Given the description of an element on the screen output the (x, y) to click on. 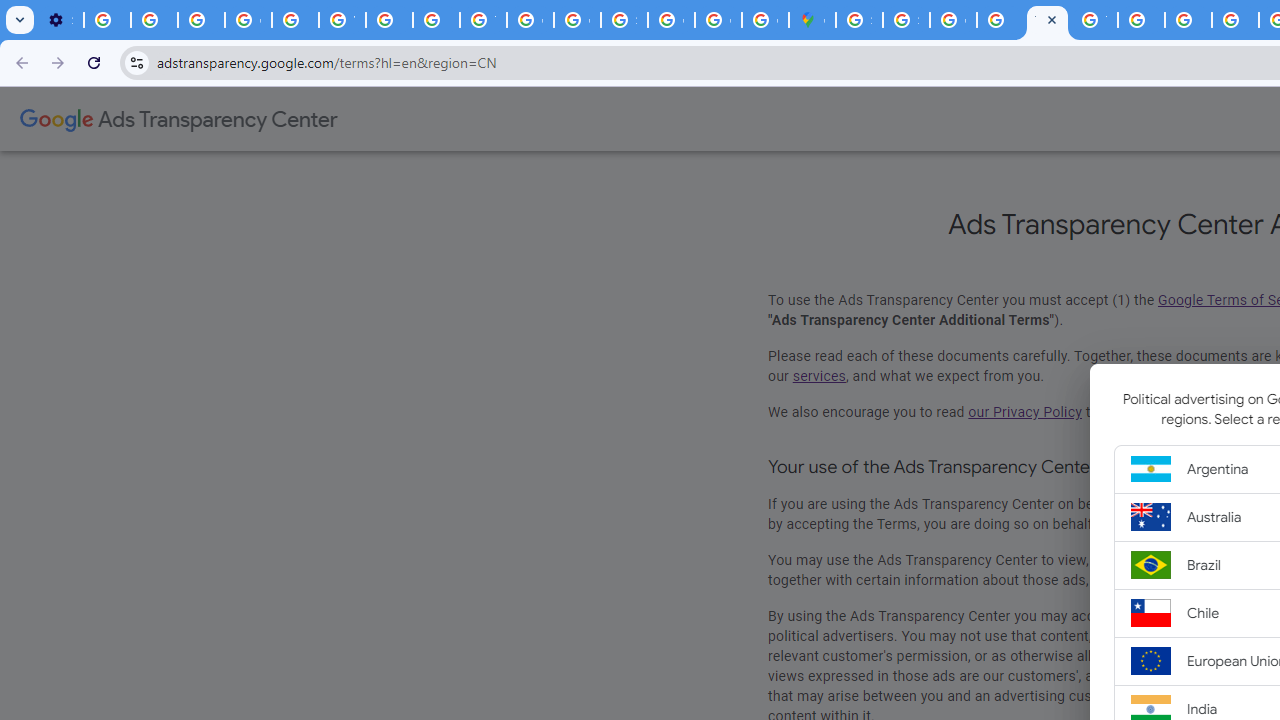
Sign in - Google Accounts (859, 20)
Blogger Policies and Guidelines - Transparency Center (1140, 20)
Sign in - Google Accounts (623, 20)
Privacy Help Center - Policies Help (294, 20)
